Given the description of an element on the screen output the (x, y) to click on. 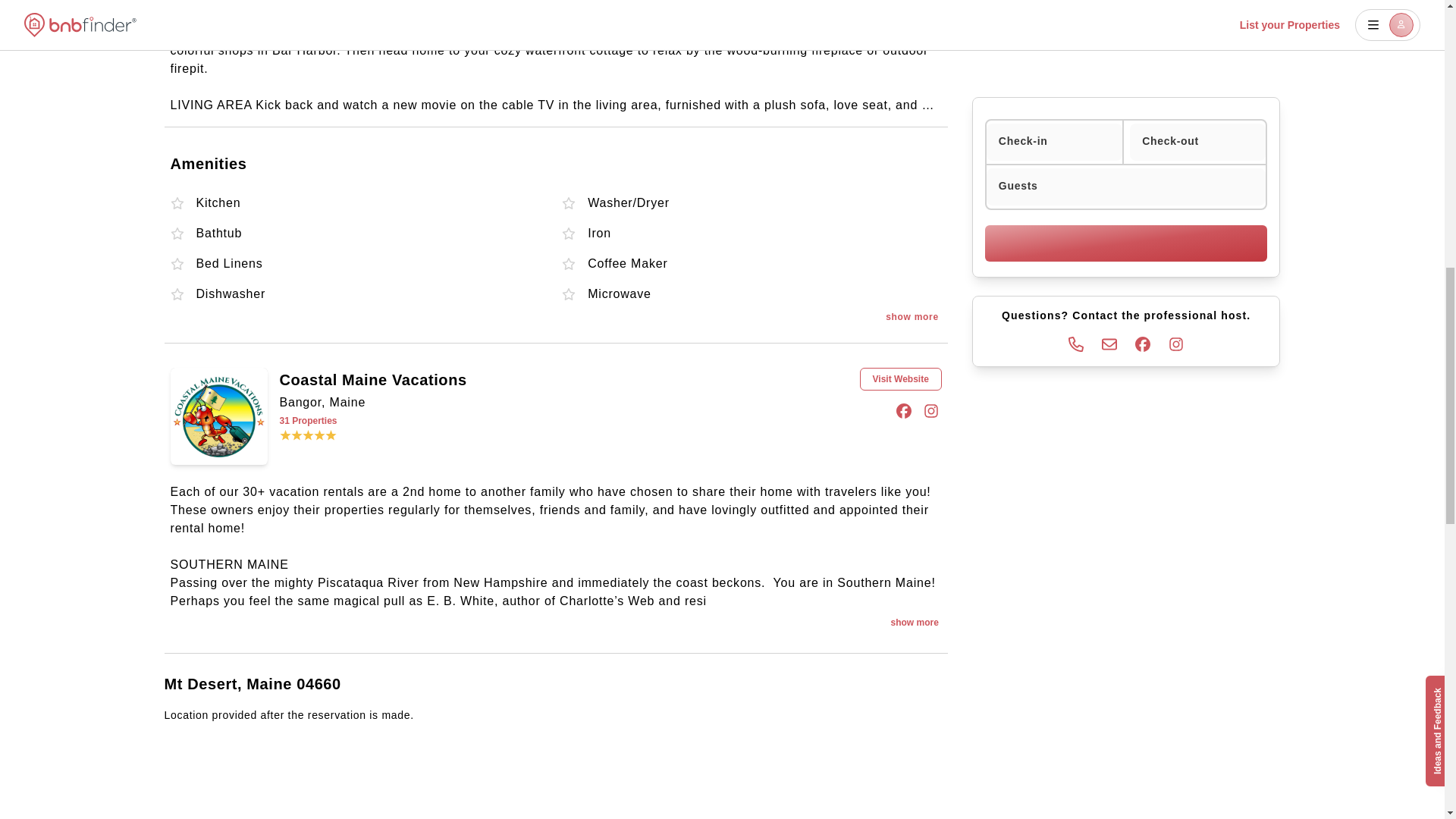
Visit Website (901, 378)
show more (911, 316)
show more (913, 622)
31 Properties (441, 420)
